Given the description of an element on the screen output the (x, y) to click on. 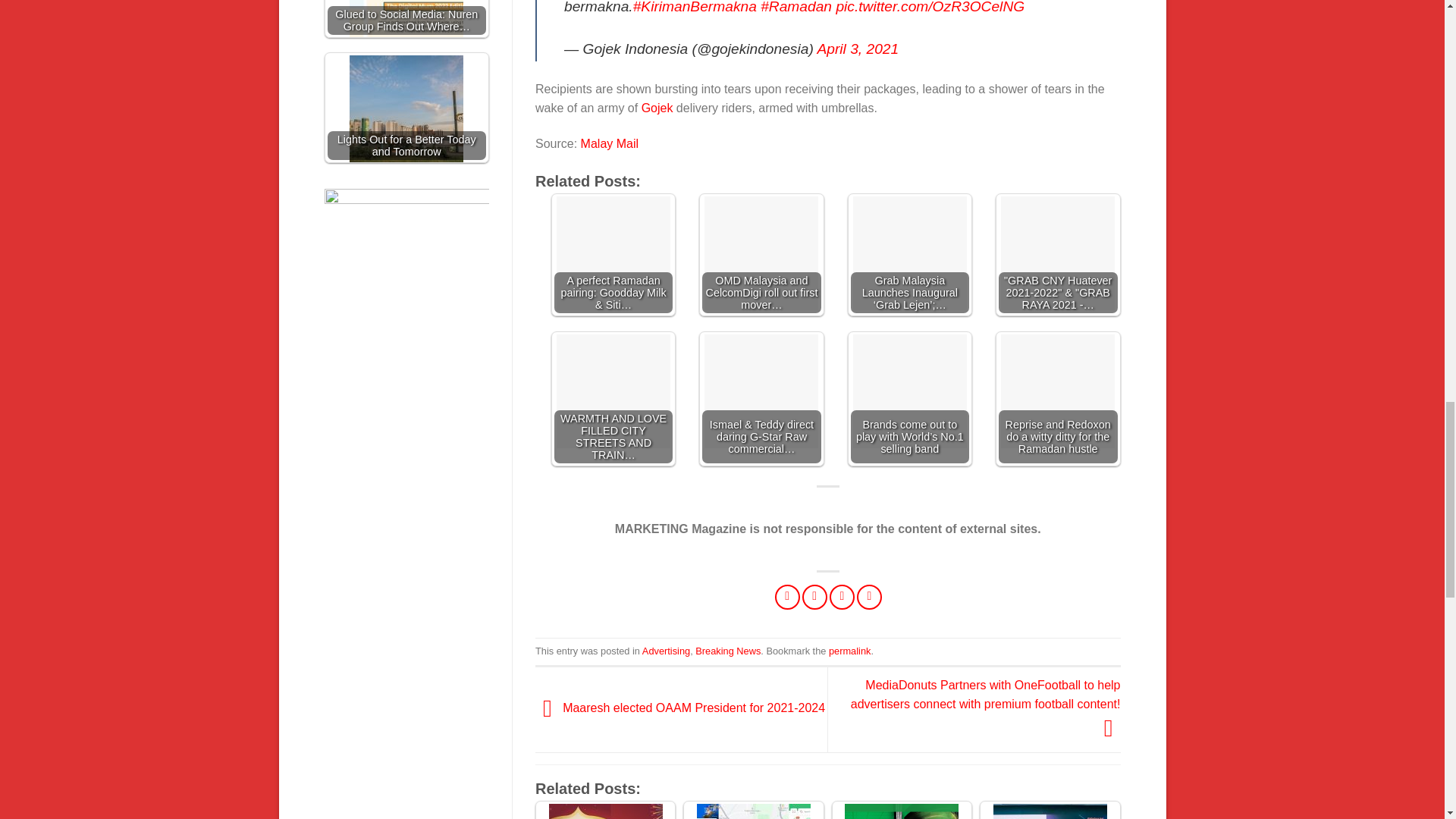
Lights Out for a Better Today and Tomorrow (406, 111)
